Given the description of an element on the screen output the (x, y) to click on. 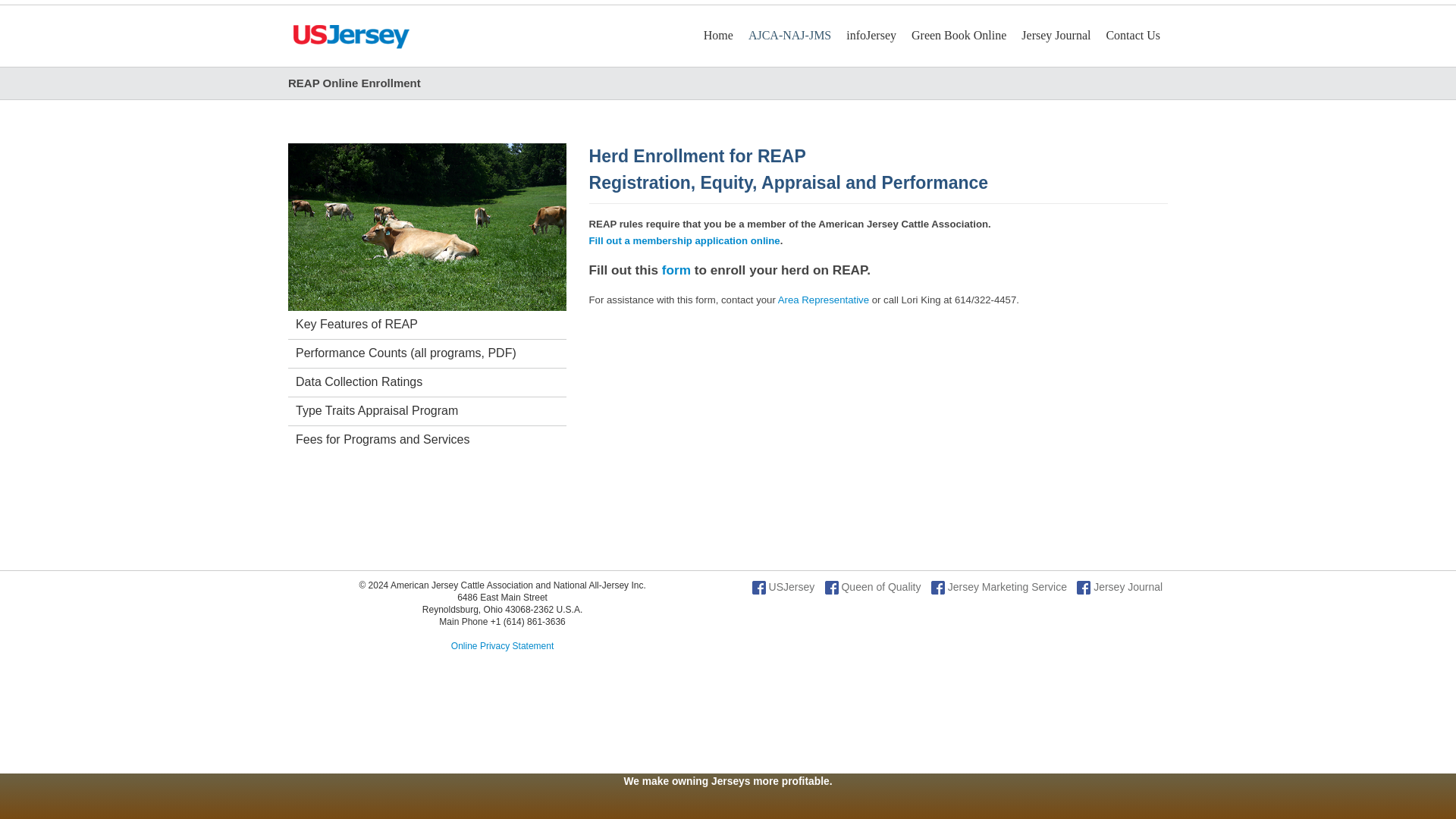
AJCA-NAJ-JMS (789, 35)
